Given the description of an element on the screen output the (x, y) to click on. 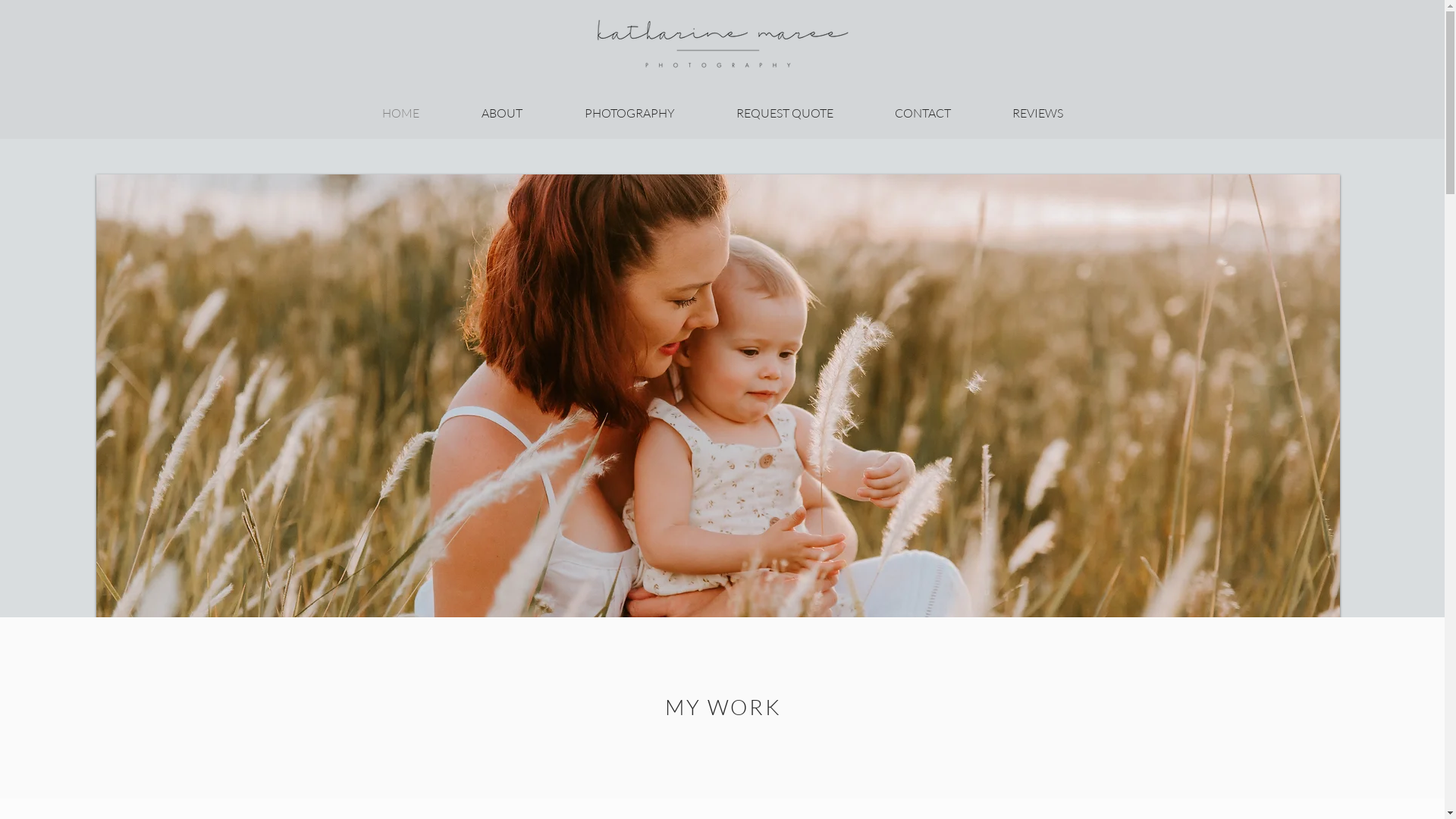
PHOTOGRAPHY Element type: text (629, 112)
CONTACT Element type: text (923, 112)
HOME Element type: text (399, 112)
REVIEWS Element type: text (1037, 112)
REQUEST QUOTE Element type: text (784, 112)
ABOUT Element type: text (501, 112)
